Given the description of an element on the screen output the (x, y) to click on. 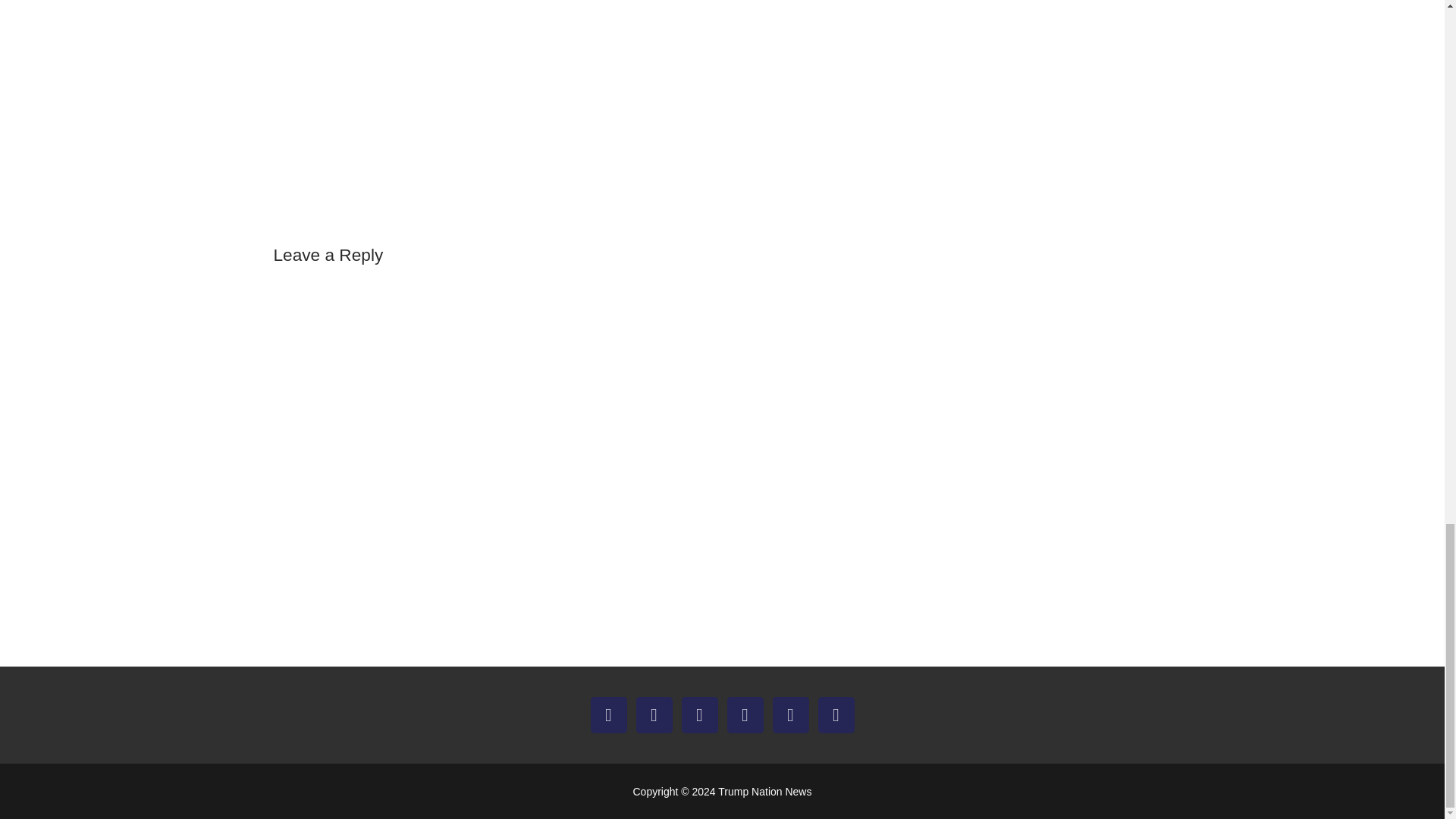
Facebook (607, 714)
Twitter (653, 714)
Instagram (698, 714)
